Given the description of an element on the screen output the (x, y) to click on. 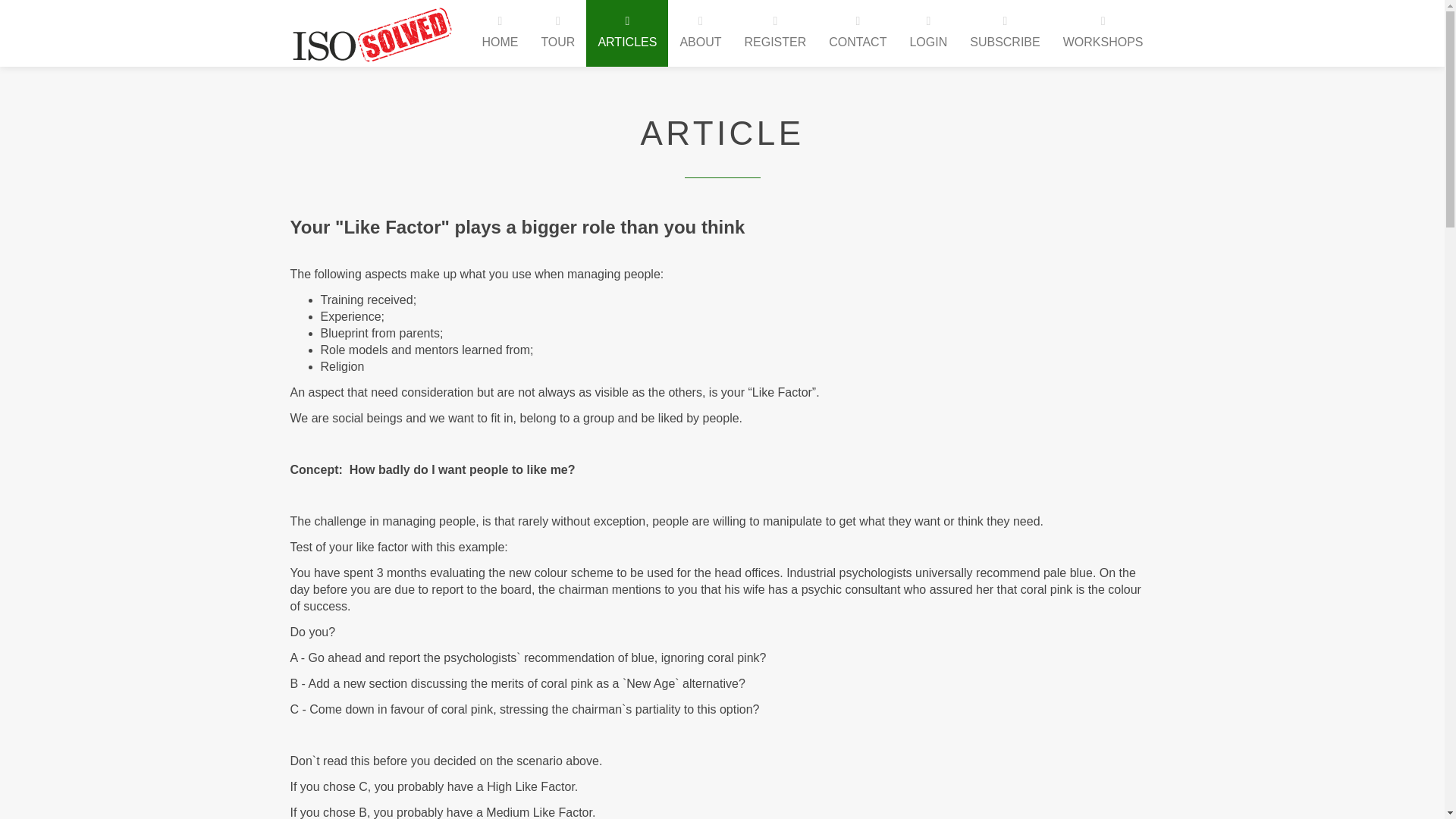
SUBSCRIBE (1004, 33)
LOGIN (928, 33)
CONTACT (857, 33)
ARTICLES (627, 33)
REGISTER (774, 33)
WORKSHOPS (1102, 33)
ABOUT (700, 33)
